Given the description of an element on the screen output the (x, y) to click on. 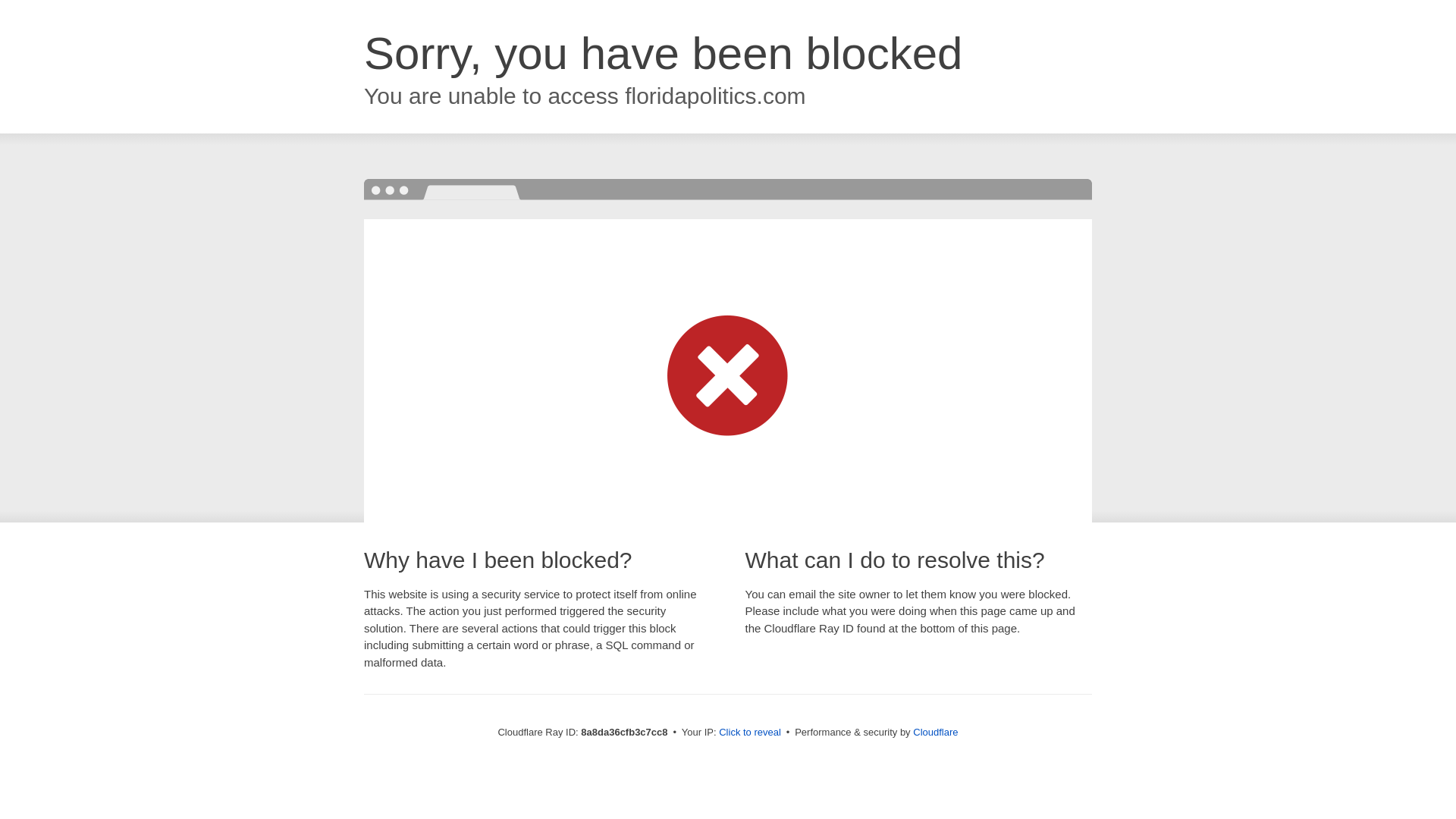
Cloudflare (935, 731)
Click to reveal (749, 732)
